Given the description of an element on the screen output the (x, y) to click on. 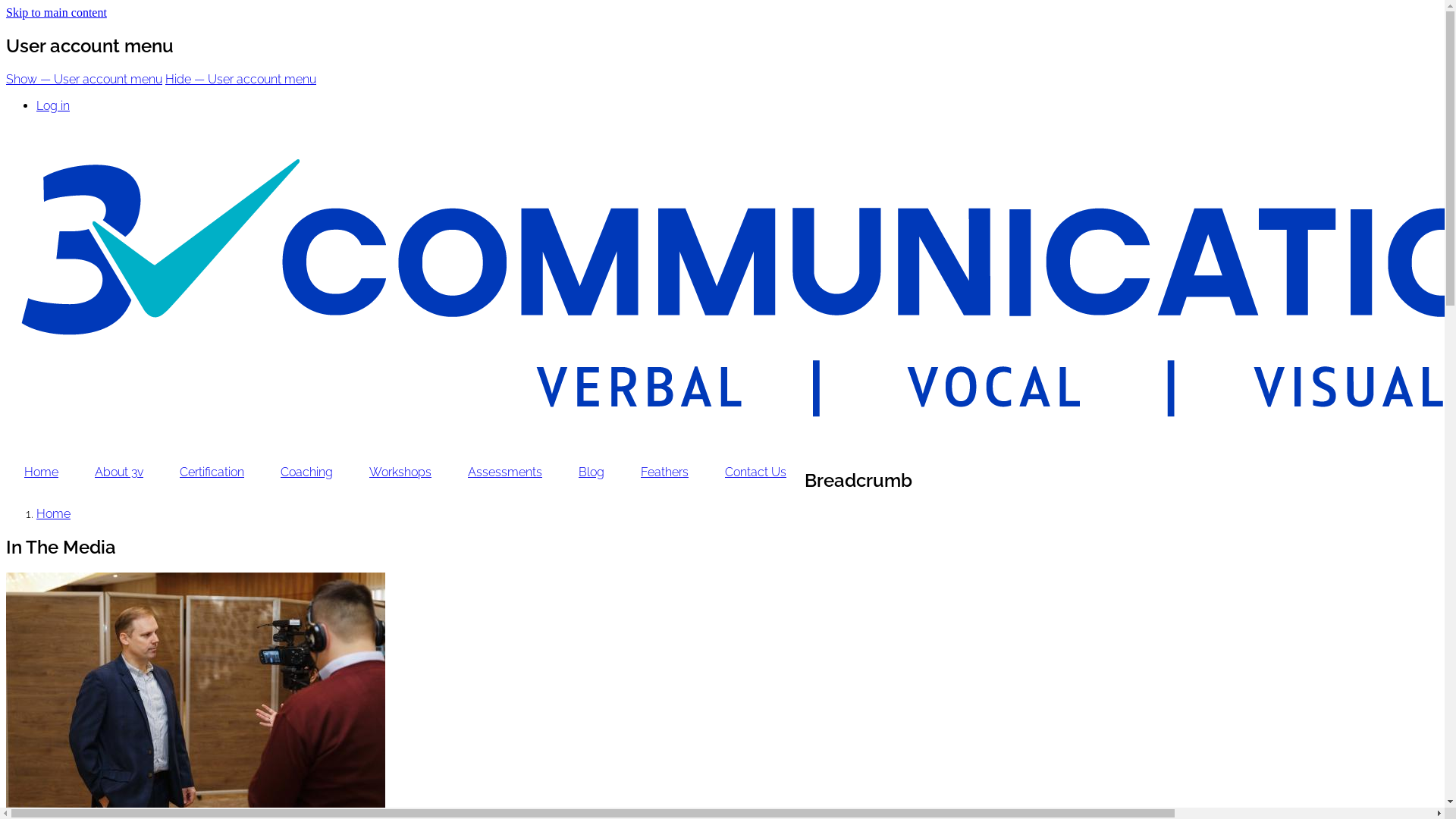
Contact Us Element type: text (755, 472)
About 3v Element type: text (118, 472)
Blog Element type: text (591, 472)
Home Element type: text (53, 513)
Certification Element type: text (211, 472)
Feathers Element type: text (664, 472)
Assessments Element type: text (504, 472)
Home Element type: text (41, 472)
Workshops Element type: text (400, 472)
Log in Element type: text (52, 105)
Coaching Element type: text (306, 472)
Skip to main content Element type: text (56, 12)
